Given the description of an element on the screen output the (x, y) to click on. 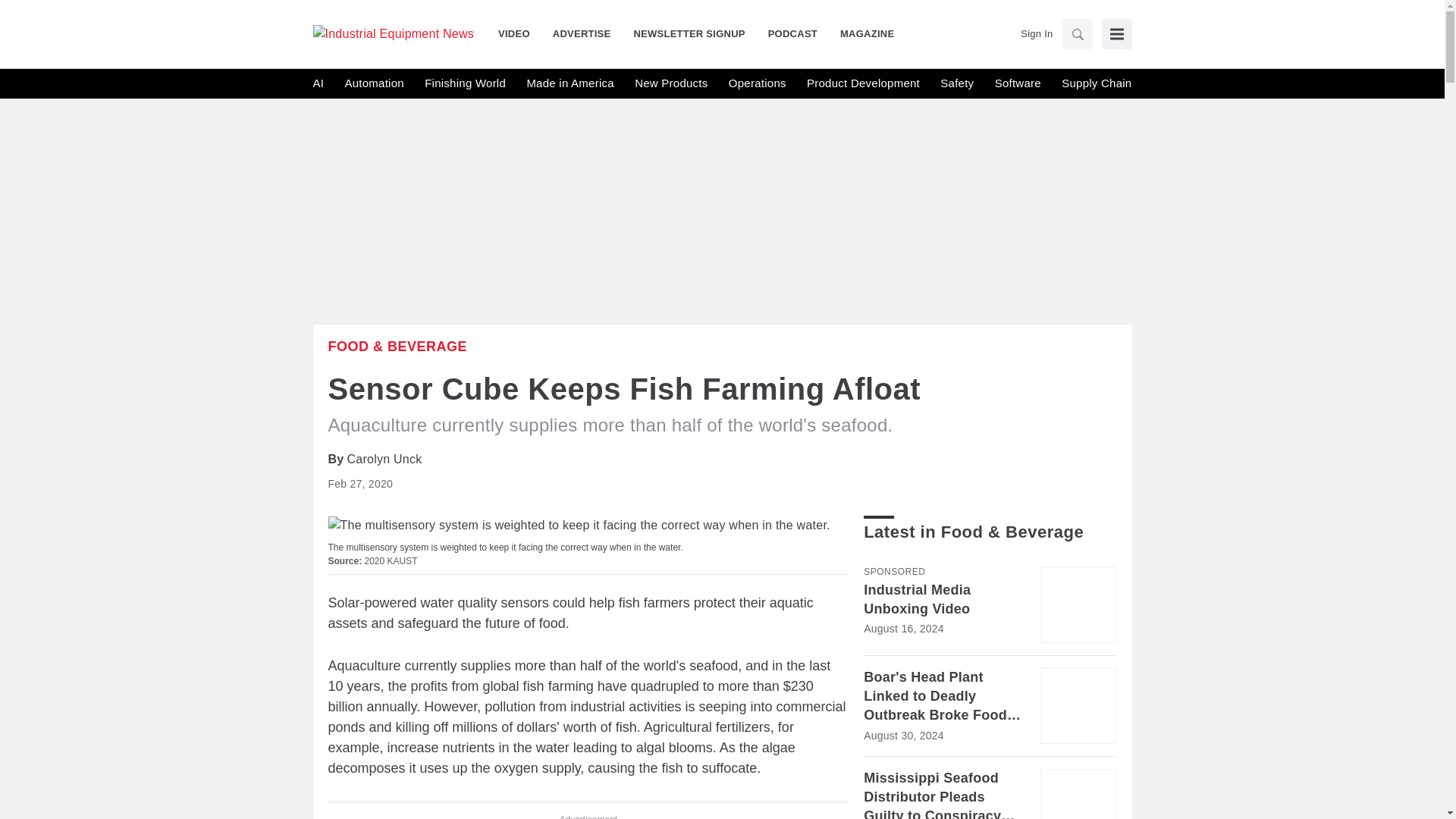
PODCAST (792, 33)
NEWSLETTER SIGNUP (688, 33)
Software (1017, 83)
Operations (757, 83)
Made in America (568, 83)
MAGAZINE (860, 33)
Product Development (863, 83)
Automation (373, 83)
ADVERTISE (582, 33)
Supply Chain (1096, 83)
